Given the description of an element on the screen output the (x, y) to click on. 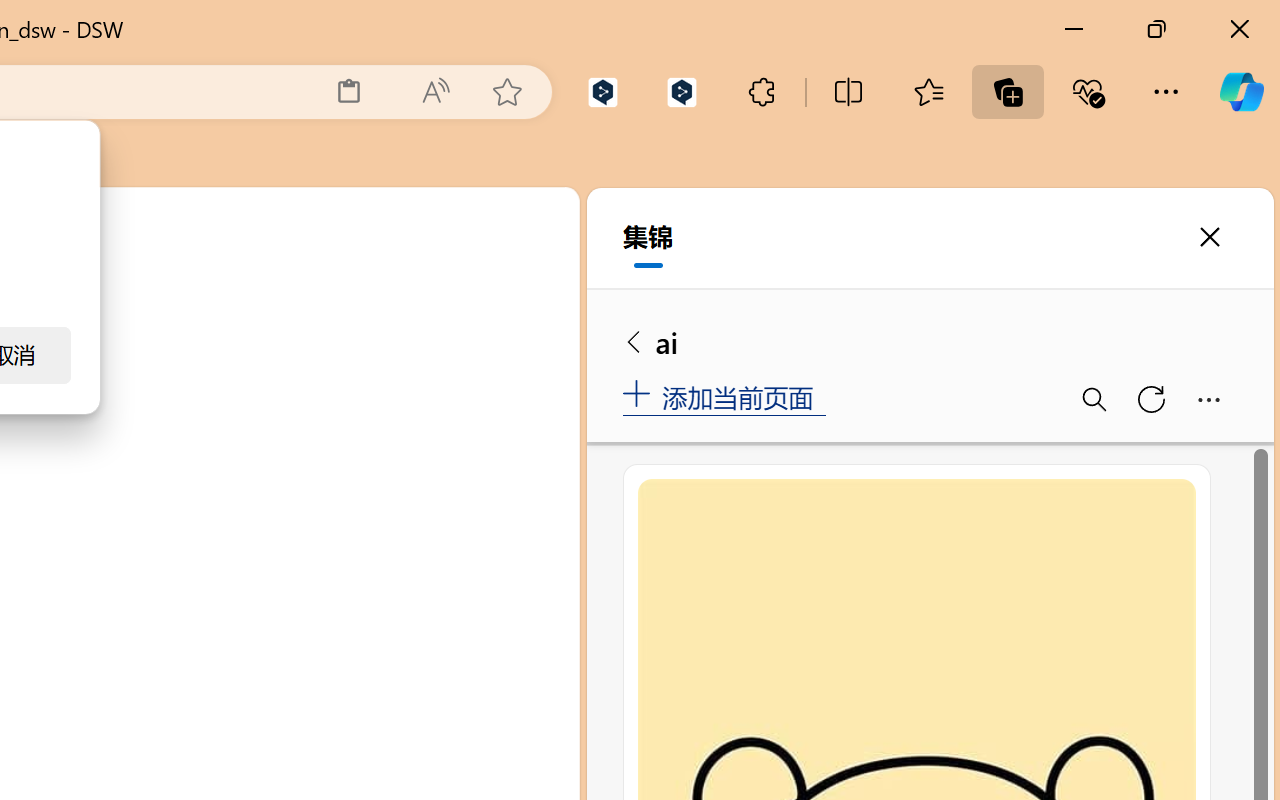
Toggle Secondary Side Bar (Ctrl+Alt+B) (506, 294)
Toggle Primary Side Bar (Ctrl+B) (413, 294)
Class: next-menu next-hoz widgets--iconMenu--BFkiHRM (436, 225)
Title actions (484, 294)
